Given the description of an element on the screen output the (x, y) to click on. 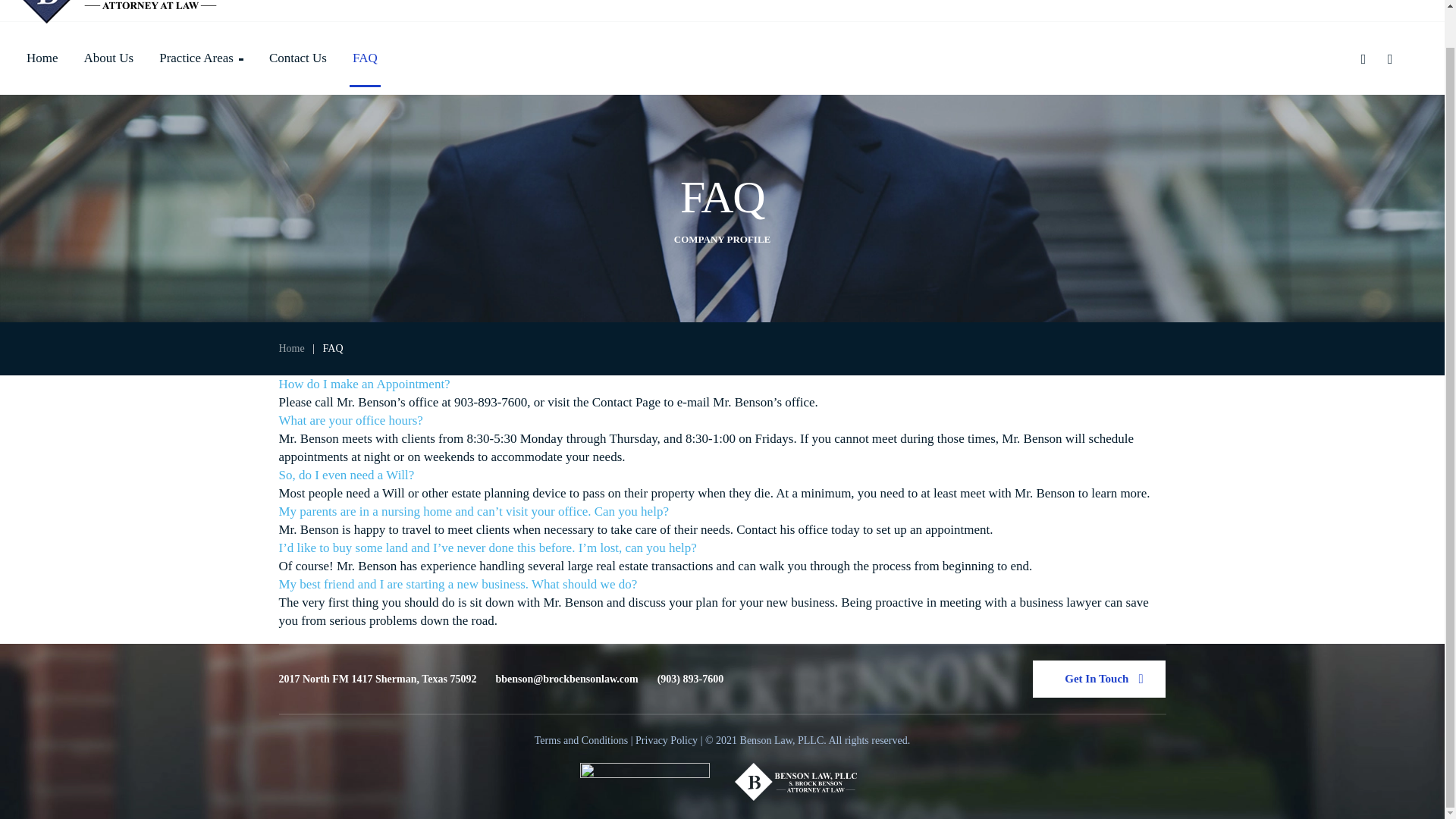
Contact Us (298, 57)
About Us (108, 57)
Practice Areas (200, 57)
